Given the description of an element on the screen output the (x, y) to click on. 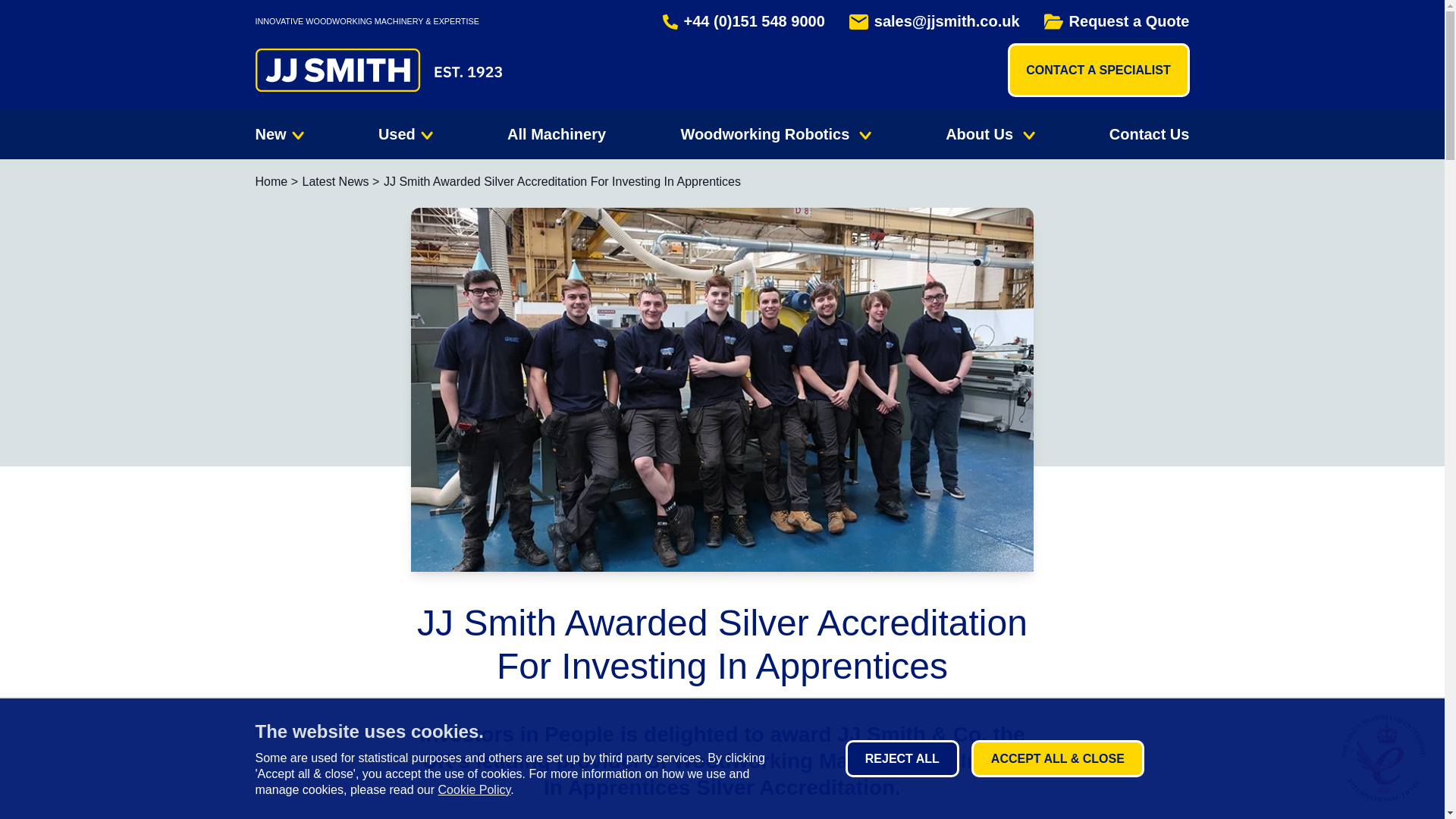
CONTACT A SPECIALIST (1098, 70)
Kings Award Winner 2024 - International Trade Logo (1383, 758)
Request a Quote (1116, 21)
